Given the description of an element on the screen output the (x, y) to click on. 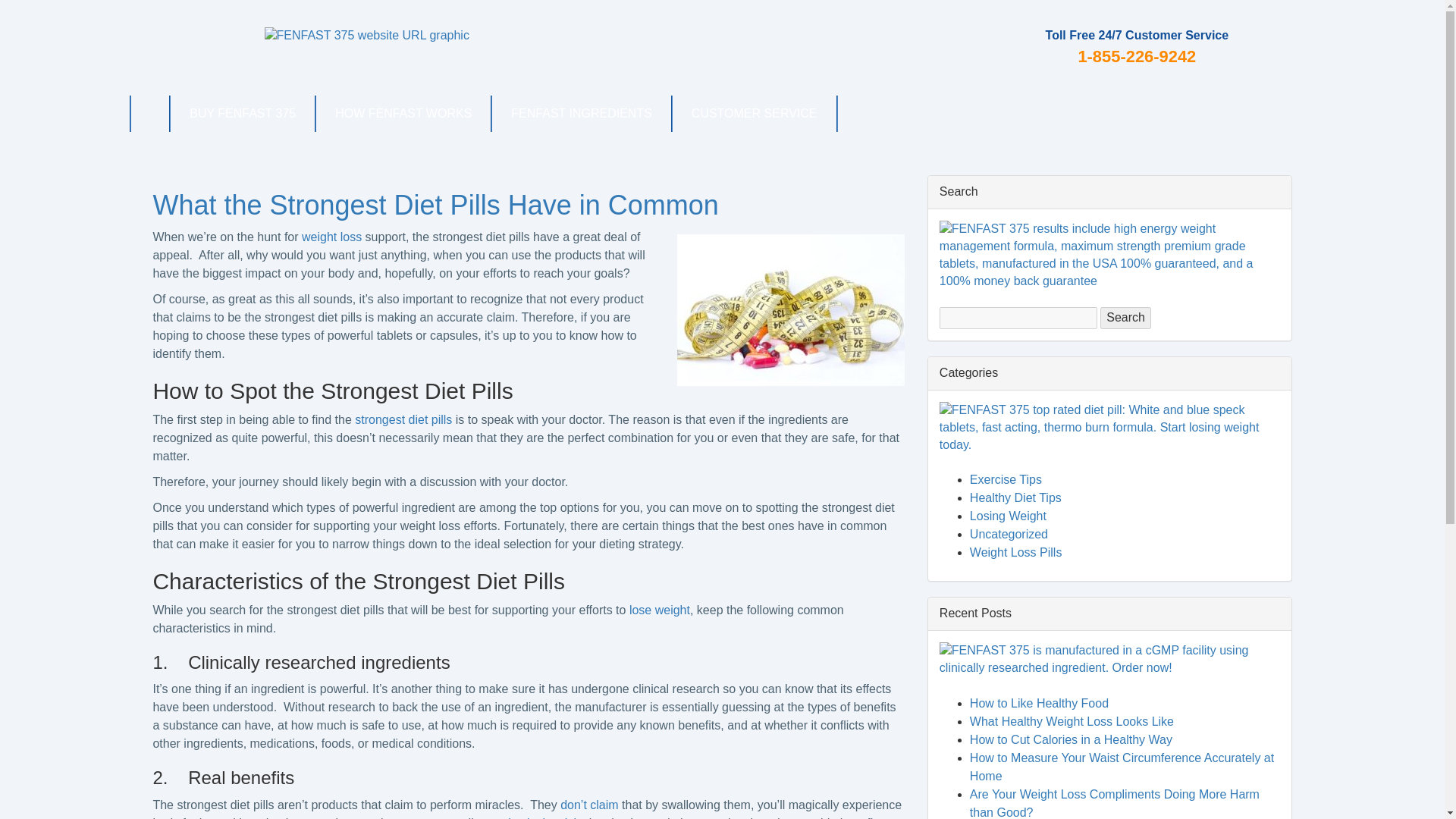
physical activity (542, 817)
Uncategorized (1008, 533)
Categories (968, 372)
What the Strongest Diet Pills Have in Common (434, 204)
lose weight (659, 609)
Losing Weight (1007, 515)
Search (958, 191)
Exercise Tips (1005, 479)
FENFAST INGREDIENTS (581, 113)
What Healthy Weight Loss Looks Like (1071, 721)
